Given the description of an element on the screen output the (x, y) to click on. 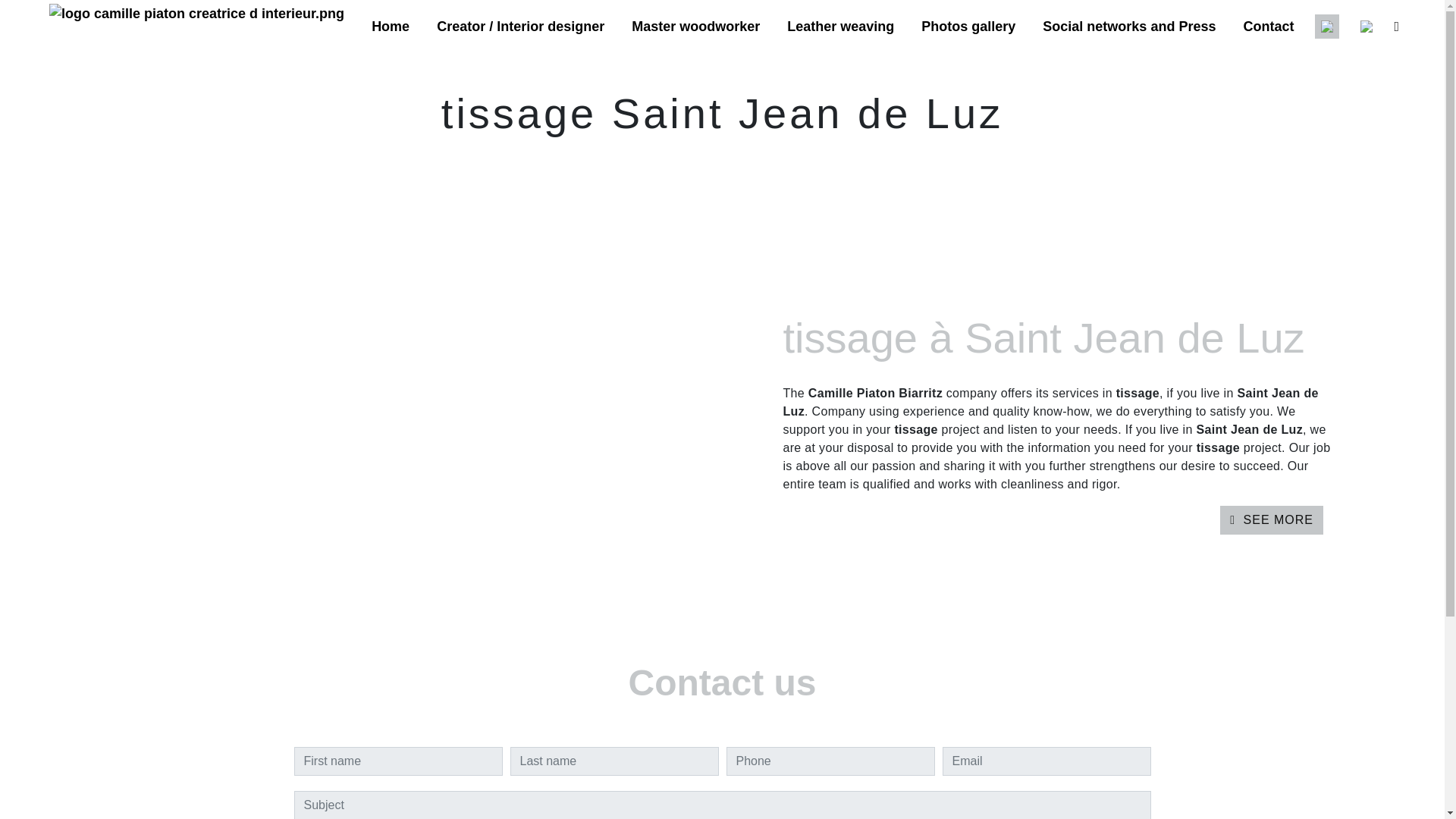
Master woodworker (695, 26)
Home (389, 26)
SEE MORE (1271, 520)
Photos gallery (968, 26)
Leather weaving (839, 26)
logo camille piaton creatrice d interieur.png (196, 26)
Social networks and Press (1128, 26)
Contact (1268, 26)
English (1326, 26)
